Given the description of an element on the screen output the (x, y) to click on. 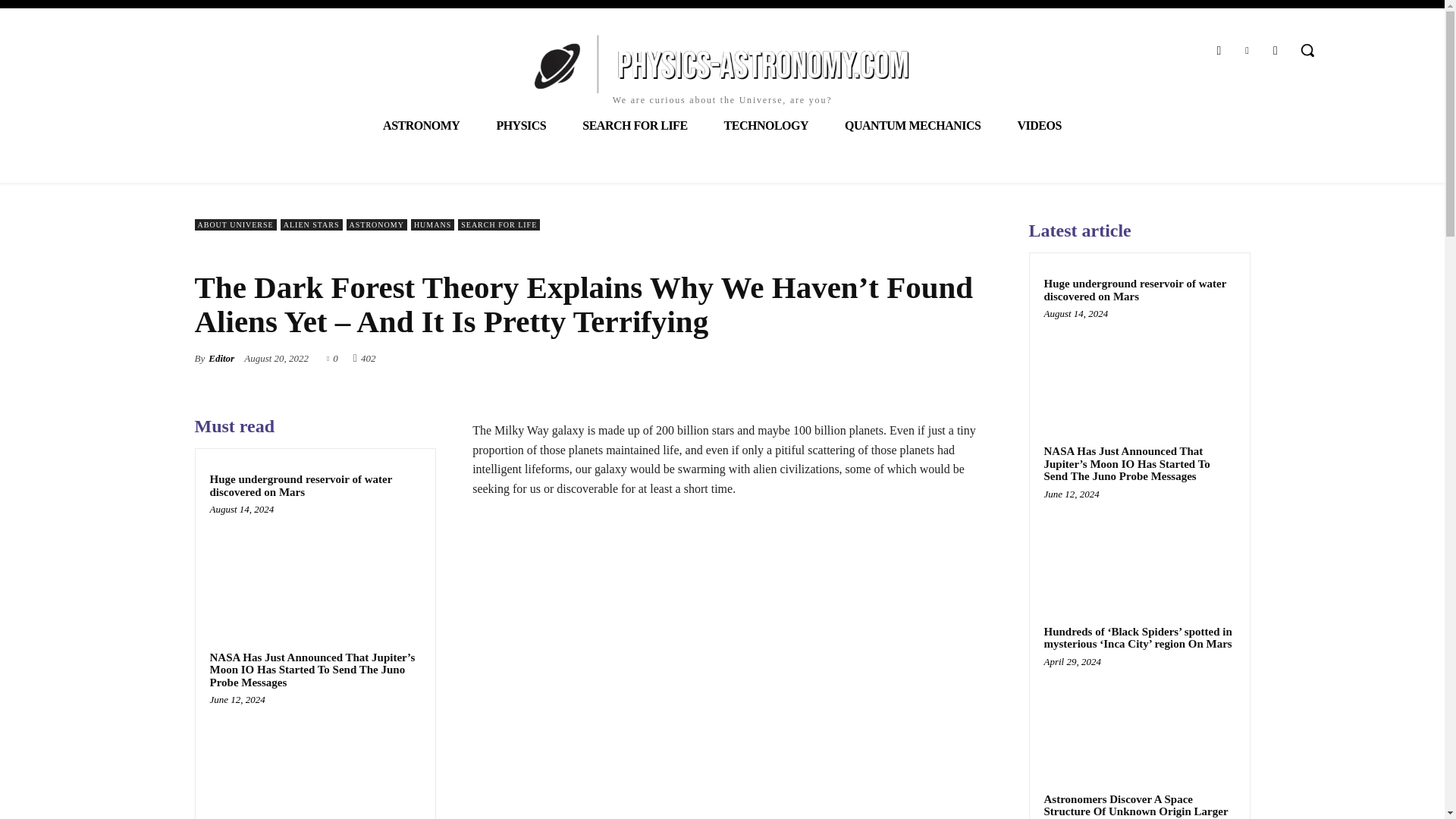
VIDEOS (1039, 125)
HUMANS (432, 224)
0 (331, 357)
Youtube (1275, 50)
QUANTUM MECHANICS (912, 125)
ABOUT UNIVERSE (234, 224)
SEARCH FOR LIFE (634, 125)
Facebook (1218, 50)
